Given the description of an element on the screen output the (x, y) to click on. 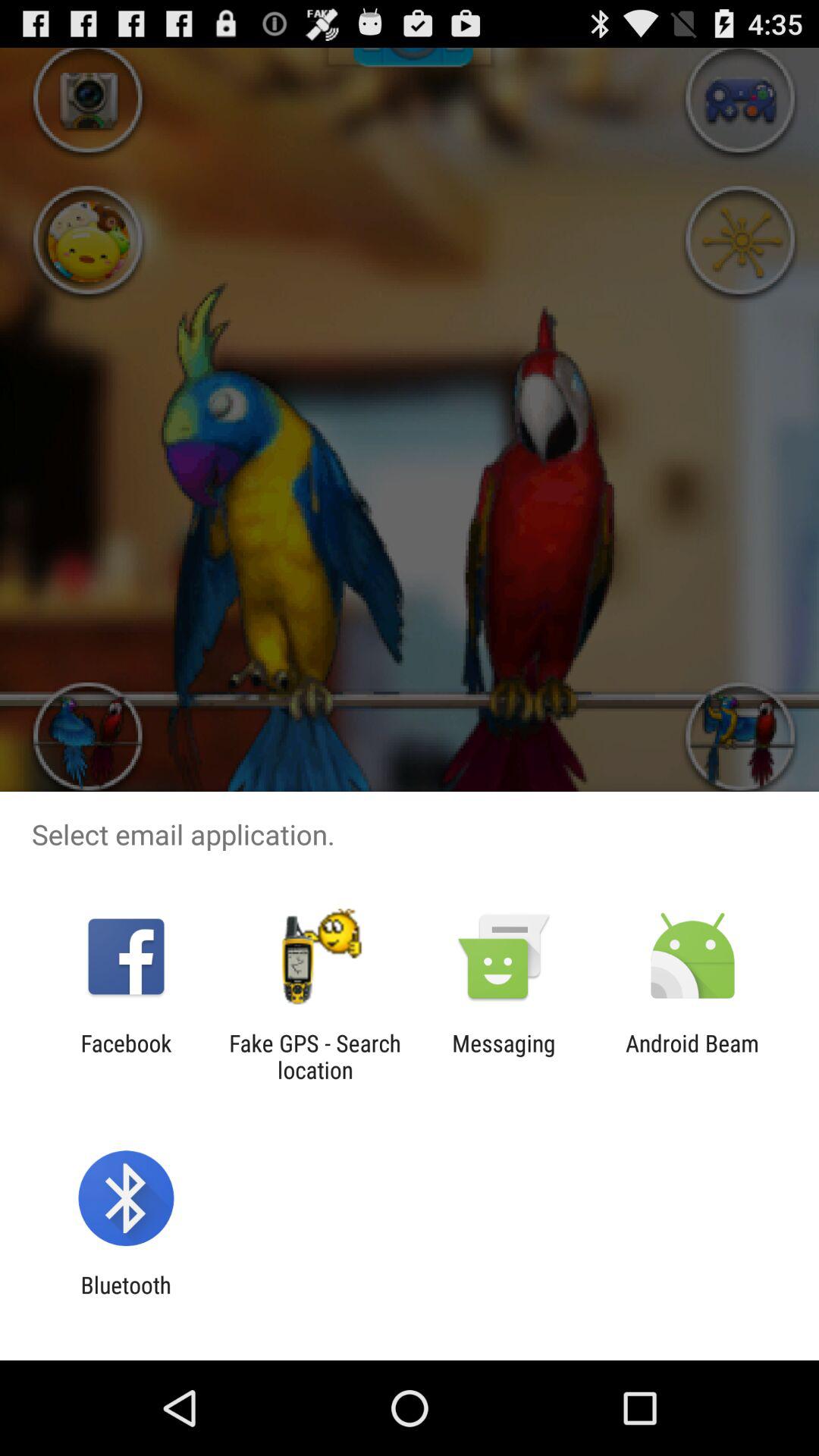
jump until the android beam icon (692, 1056)
